Given the description of an element on the screen output the (x, y) to click on. 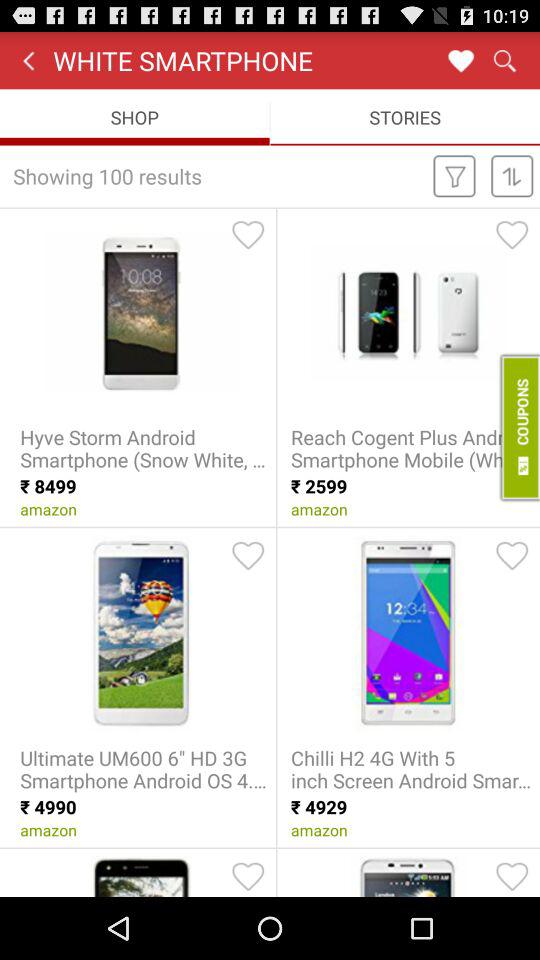
select to add to favorite (248, 876)
